Given the description of an element on the screen output the (x, y) to click on. 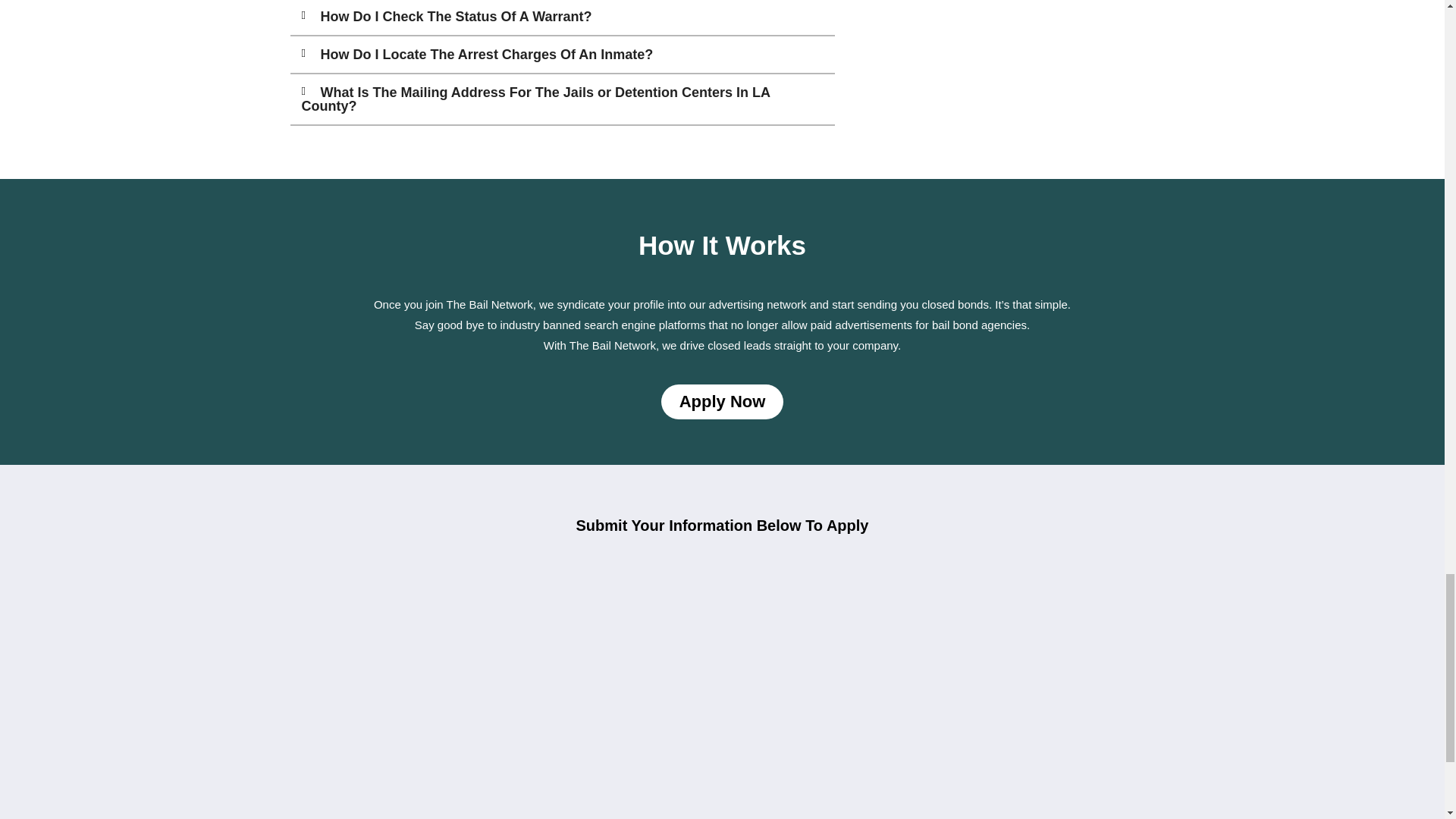
How Do I Check The Status Of A Warrant? (455, 16)
Apply Now (722, 401)
How Do I Locate The Arrest Charges Of An Inmate? (486, 54)
